Given the description of an element on the screen output the (x, y) to click on. 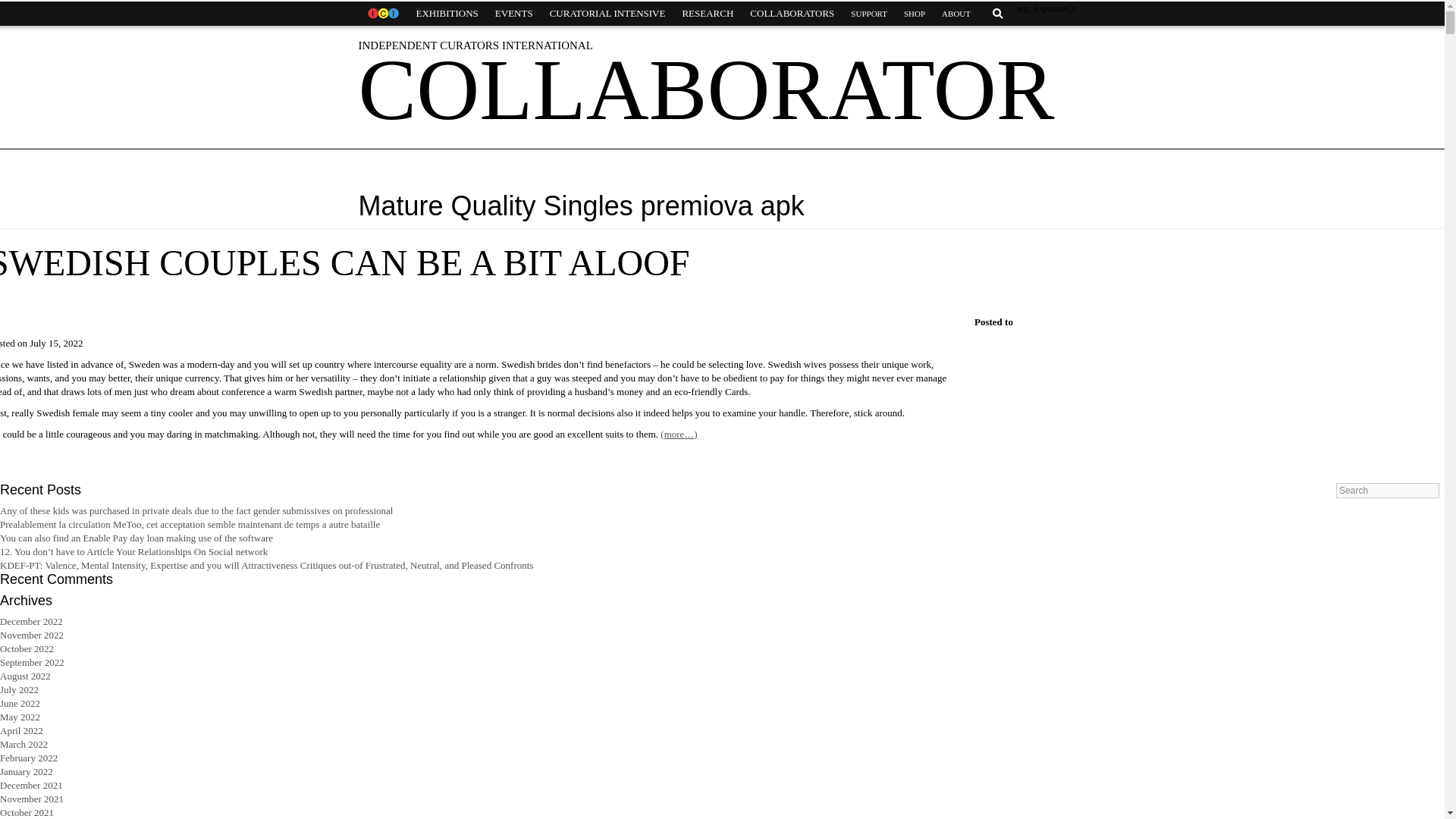
EVENTS (513, 13)
CURATORIAL INTENSIVE (607, 13)
COLLABORATORS (792, 13)
RESEARCH (706, 13)
EXHIBITIONS (446, 13)
HOME (382, 13)
